Given the description of an element on the screen output the (x, y) to click on. 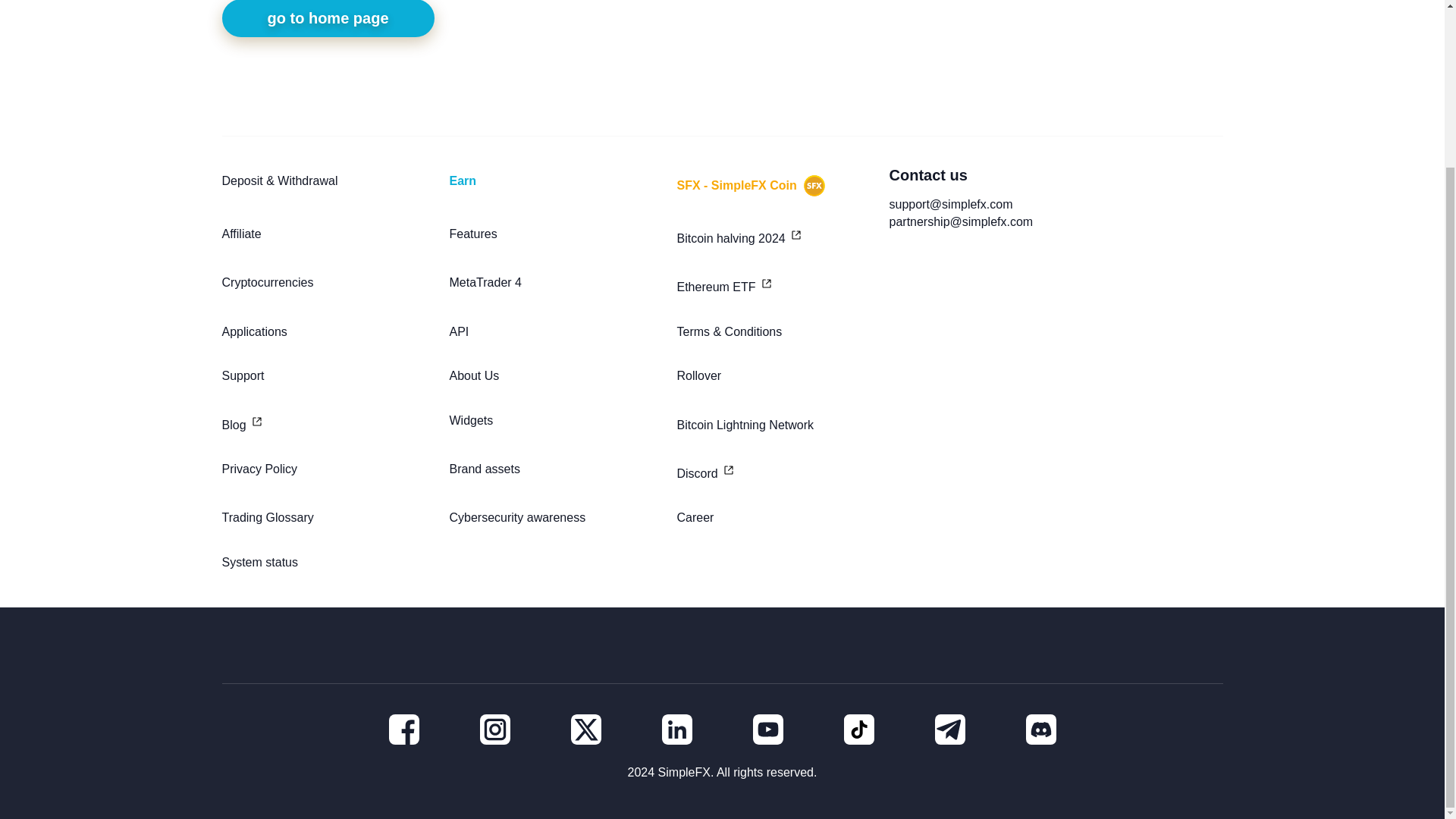
Bitcoin Lightning Network (782, 422)
About Us (554, 375)
MetaTrader 4 (554, 285)
Earn (554, 185)
API (554, 331)
Widgets (554, 422)
Discord (782, 471)
Applications (327, 331)
Ethereum ETF (782, 285)
Trading Glossary (327, 517)
Affiliate (327, 236)
Blog (327, 422)
Privacy Policy (327, 471)
go to home page (327, 18)
SFX - SimpleFX Coin (782, 185)
